Given the description of an element on the screen output the (x, y) to click on. 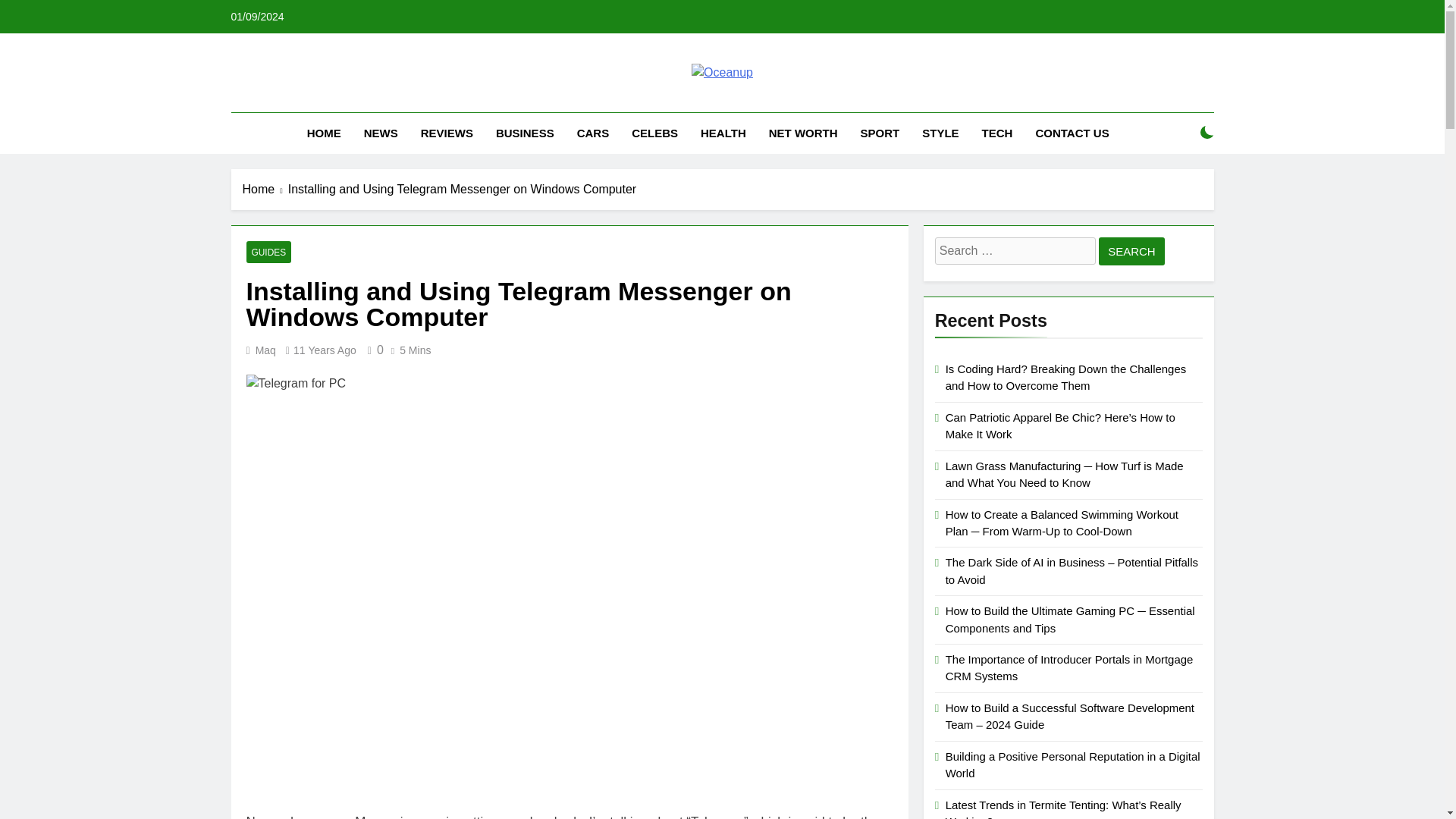
GUIDES (268, 251)
SPORT (879, 133)
CONTACT US (1071, 133)
NEWS (380, 133)
REVIEWS (446, 133)
HOME (323, 133)
CELEBS (654, 133)
BUSINESS (525, 133)
11 Years Ago (325, 349)
Search (1131, 251)
